Given the description of an element on the screen output the (x, y) to click on. 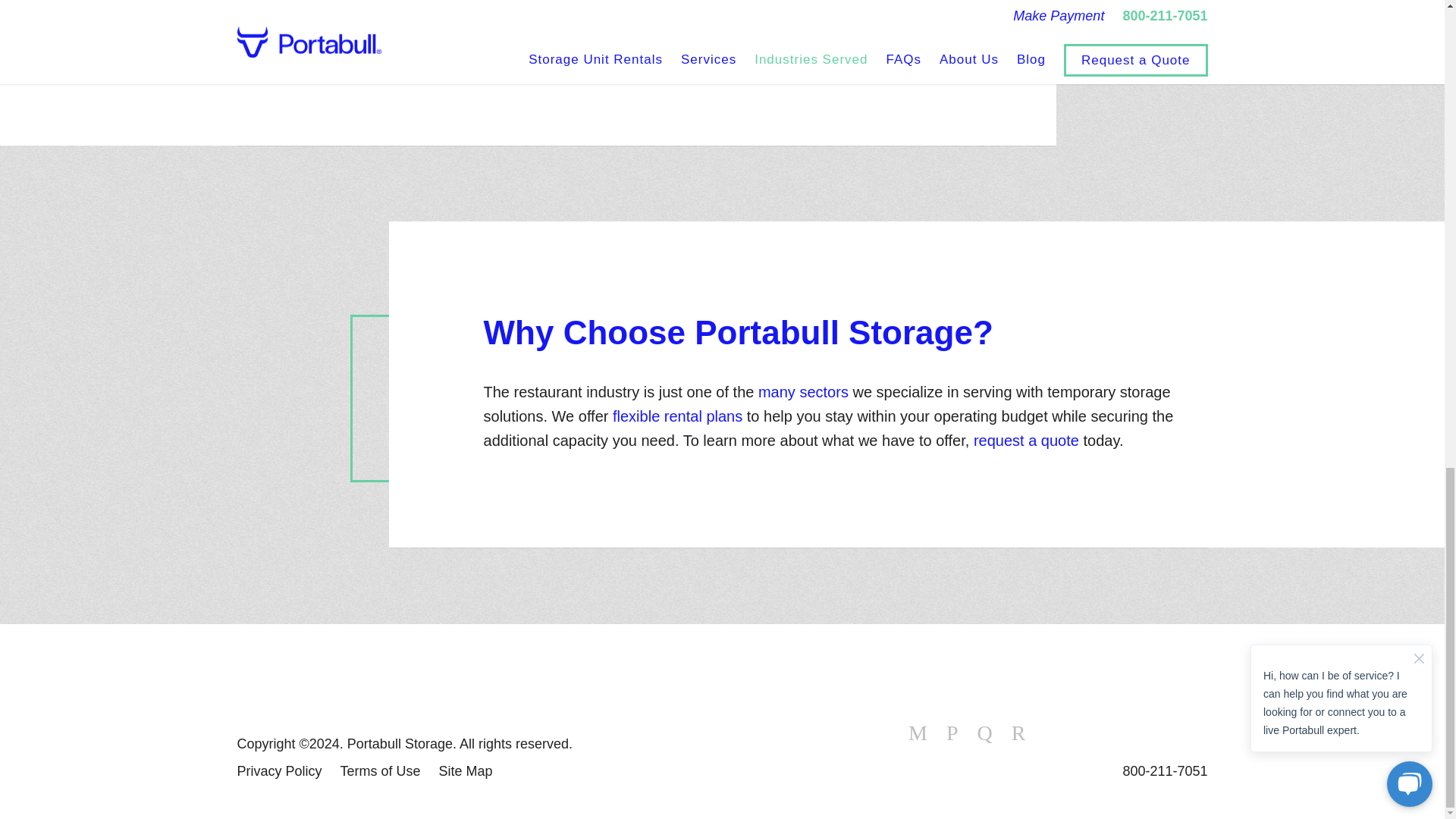
Facebook (917, 732)
Portabull Storage (1134, 724)
A Jones Company (330, 679)
LinkedIn (952, 732)
Instagram (983, 732)
Youtube (1018, 732)
